Given the description of an element on the screen output the (x, y) to click on. 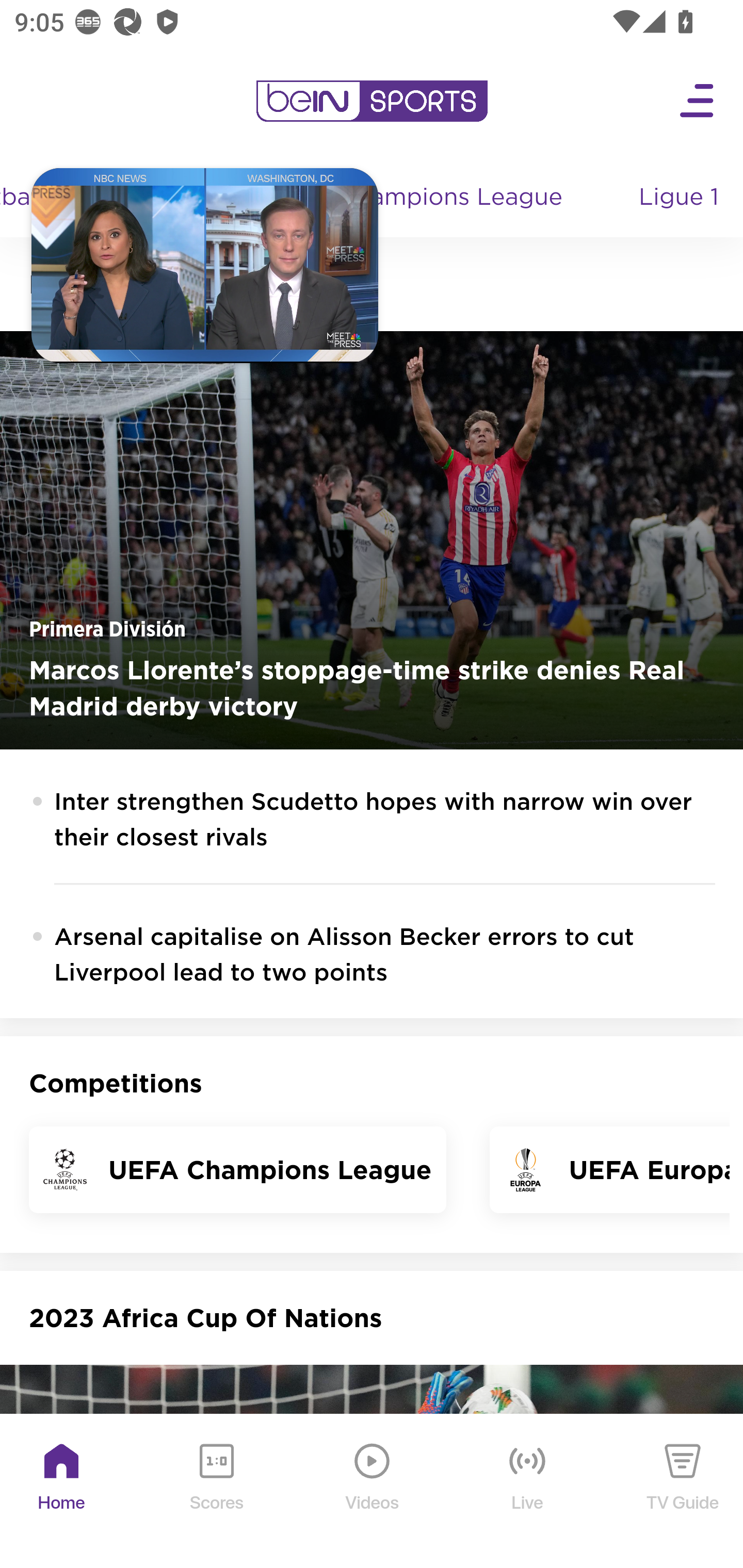
en-my?platform=mobile_android bein logo (371, 101)
Open Menu Icon (697, 101)
Ligue 1 (680, 198)
Home Home Icon Home (61, 1491)
Scores Scores Icon Scores (216, 1491)
Videos Videos Icon Videos (372, 1491)
TV Guide TV Guide Icon TV Guide (682, 1491)
